Given the description of an element on the screen output the (x, y) to click on. 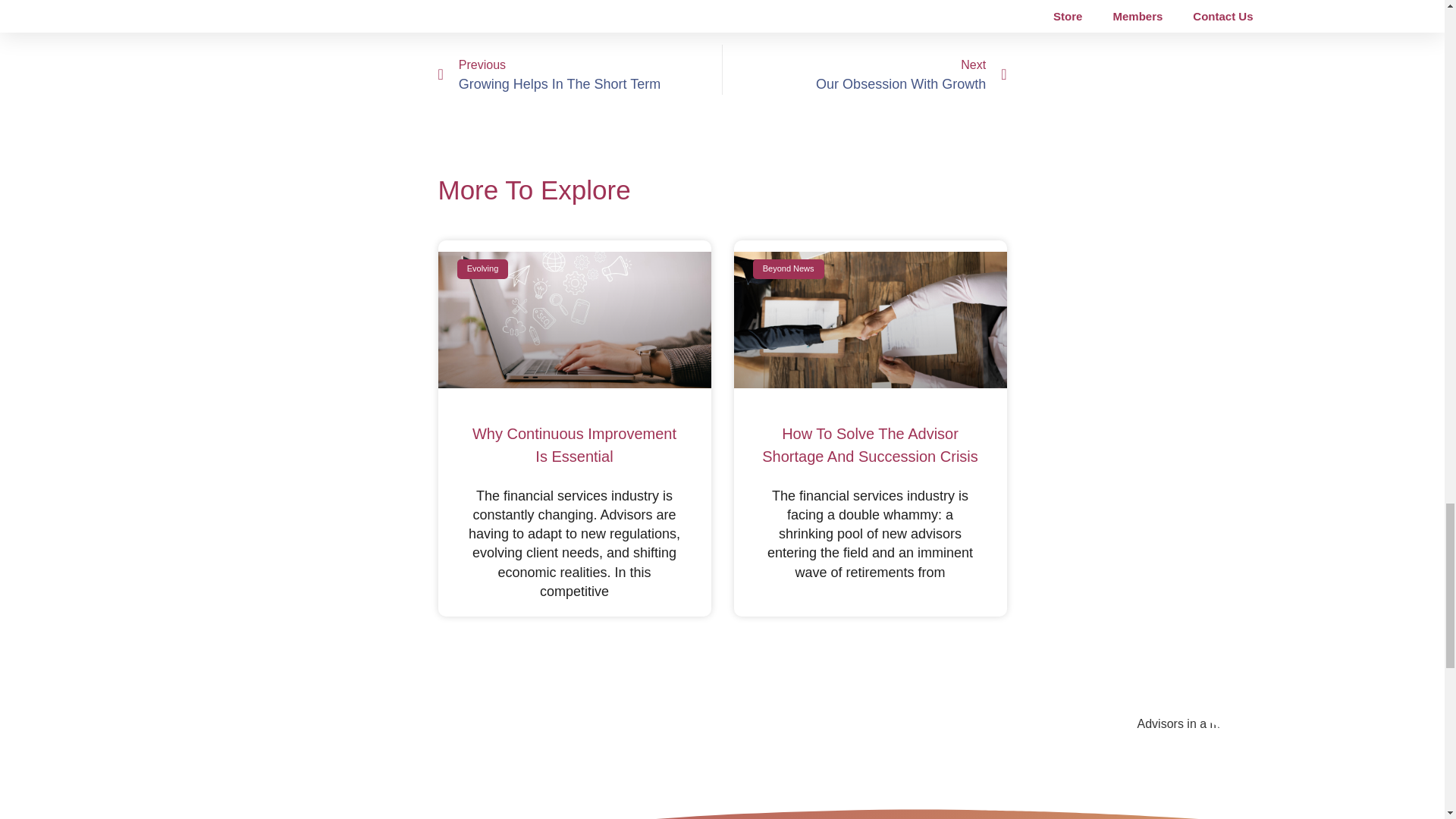
PeopleatMeeting - Legacy (864, 70)
Marketing-2 - Legacy (999, 766)
Recruiting-2 - Legacy (572, 318)
Why Continuous Improvement Is Essential (867, 318)
